Given the description of an element on the screen output the (x, y) to click on. 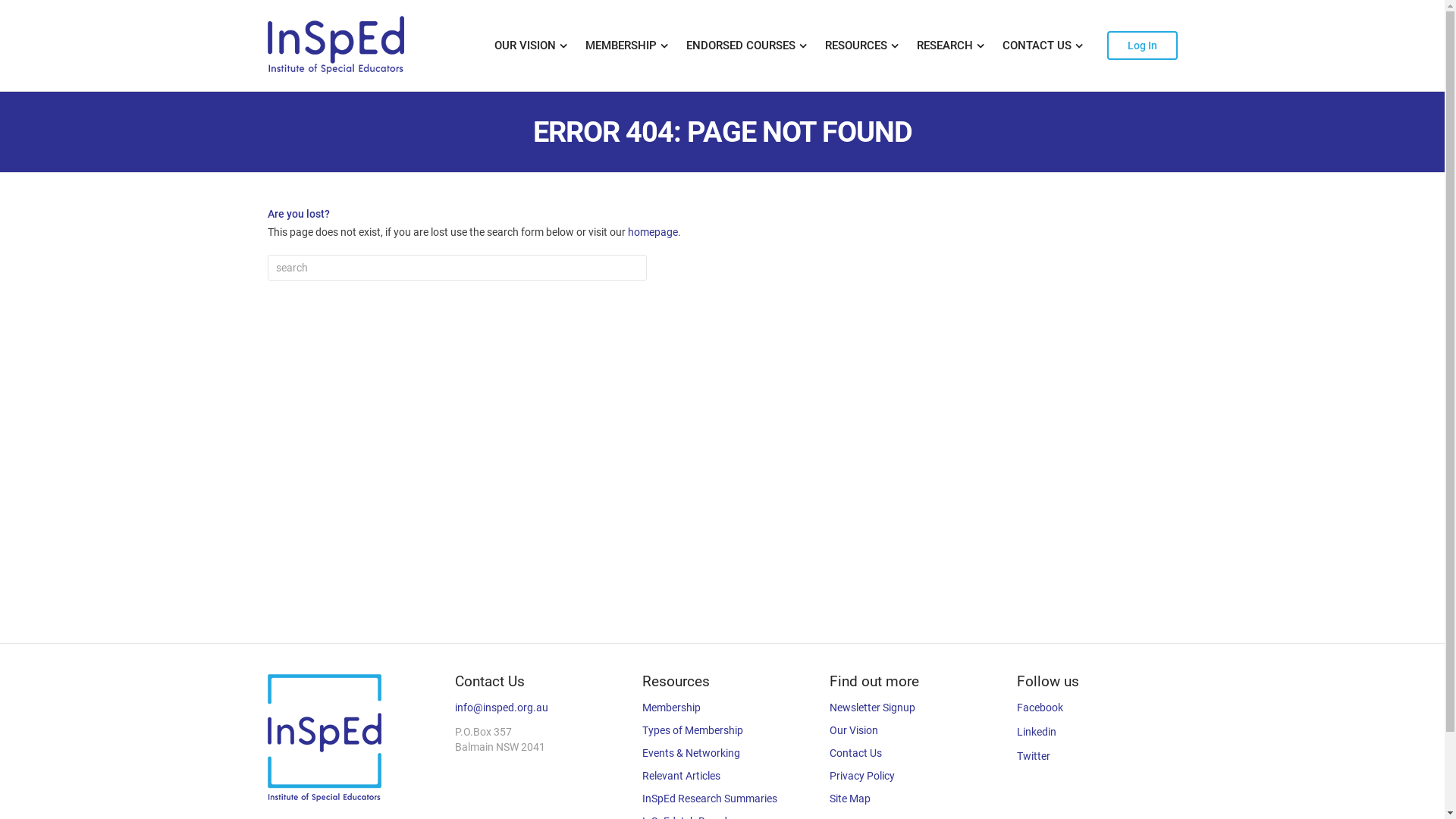
info@insped.org.au Element type: text (501, 707)
MEMBERSHIP Element type: text (626, 45)
Newsletter Signup Element type: text (872, 707)
Privacy Policy Element type: text (861, 775)
Facebook Element type: text (1039, 707)
Log In Element type: text (1142, 45)
Events & Networking Element type: text (691, 752)
Relevant Articles Element type: text (681, 775)
InSpEd Research Summaries Element type: text (709, 798)
CONTACT US Element type: text (1042, 45)
homepage Element type: text (652, 231)
Types of Membership Element type: text (692, 730)
Site Map Element type: text (849, 798)
ENDORSED COURSES Element type: text (745, 45)
Twitter Element type: text (1033, 755)
Contact Us Element type: text (855, 752)
Our Vision Element type: text (853, 730)
RESEARCH Element type: text (949, 45)
OUR VISION Element type: text (530, 45)
Linkedin Element type: text (1036, 731)
Membership Element type: text (671, 707)
InSpEd Element type: hover (334, 45)
RESOURCES Element type: text (861, 45)
